Given the description of an element on the screen output the (x, y) to click on. 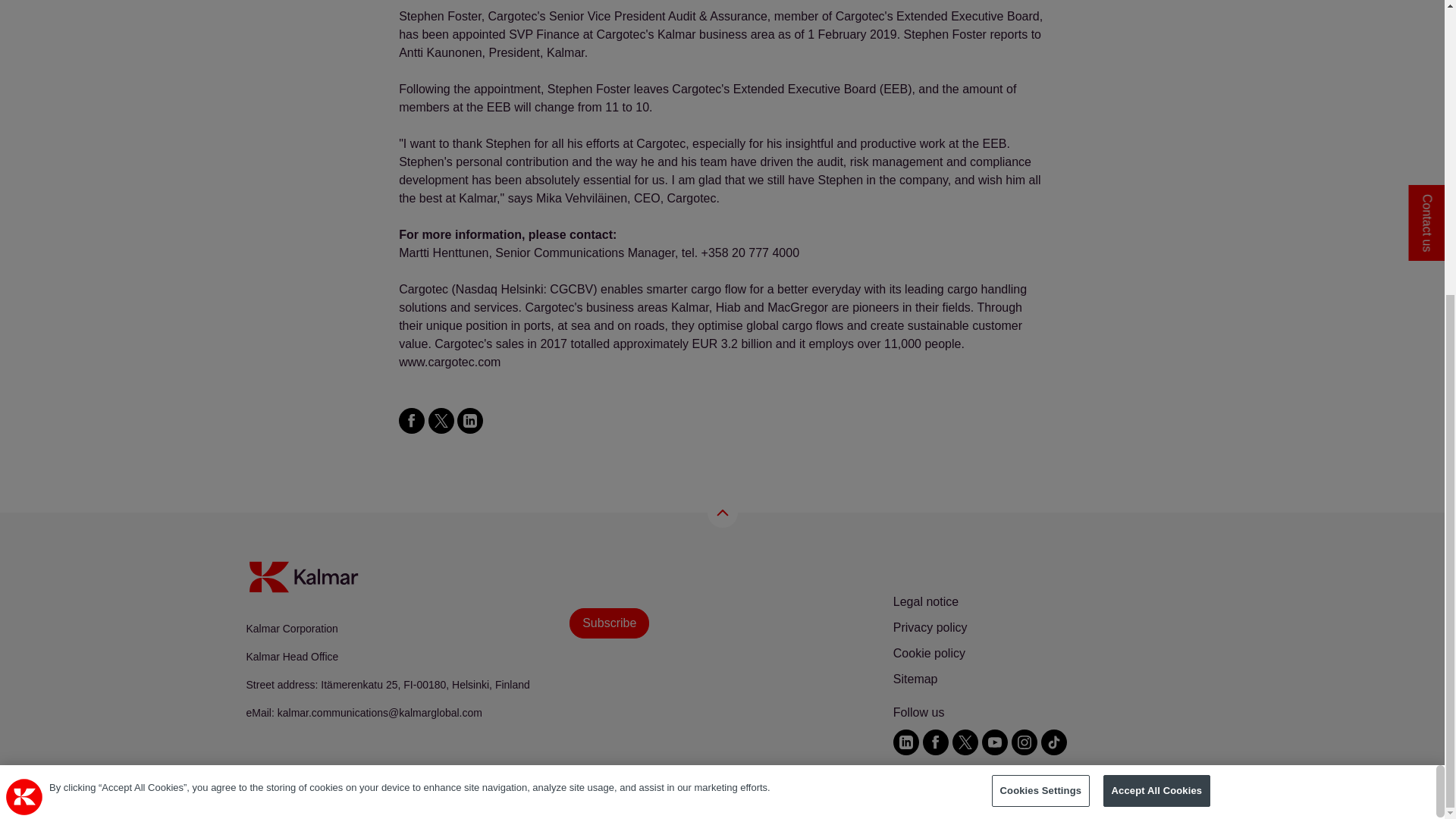
Company Logo (24, 343)
Kalmar logo (302, 576)
